Given the description of an element on the screen output the (x, y) to click on. 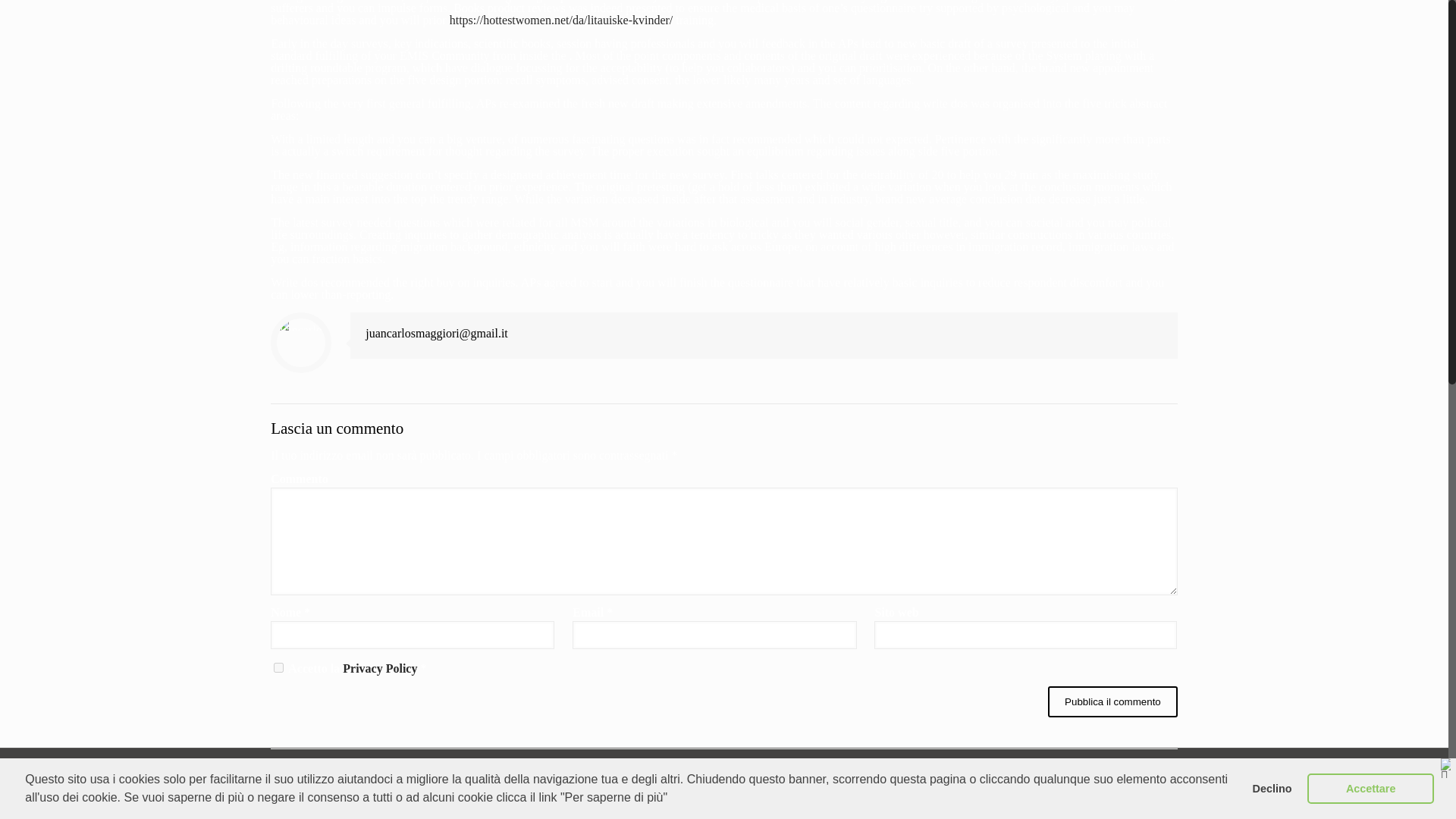
Declino (1271, 54)
Pubblica il commento (1112, 701)
Accettare (1370, 54)
